Given the description of an element on the screen output the (x, y) to click on. 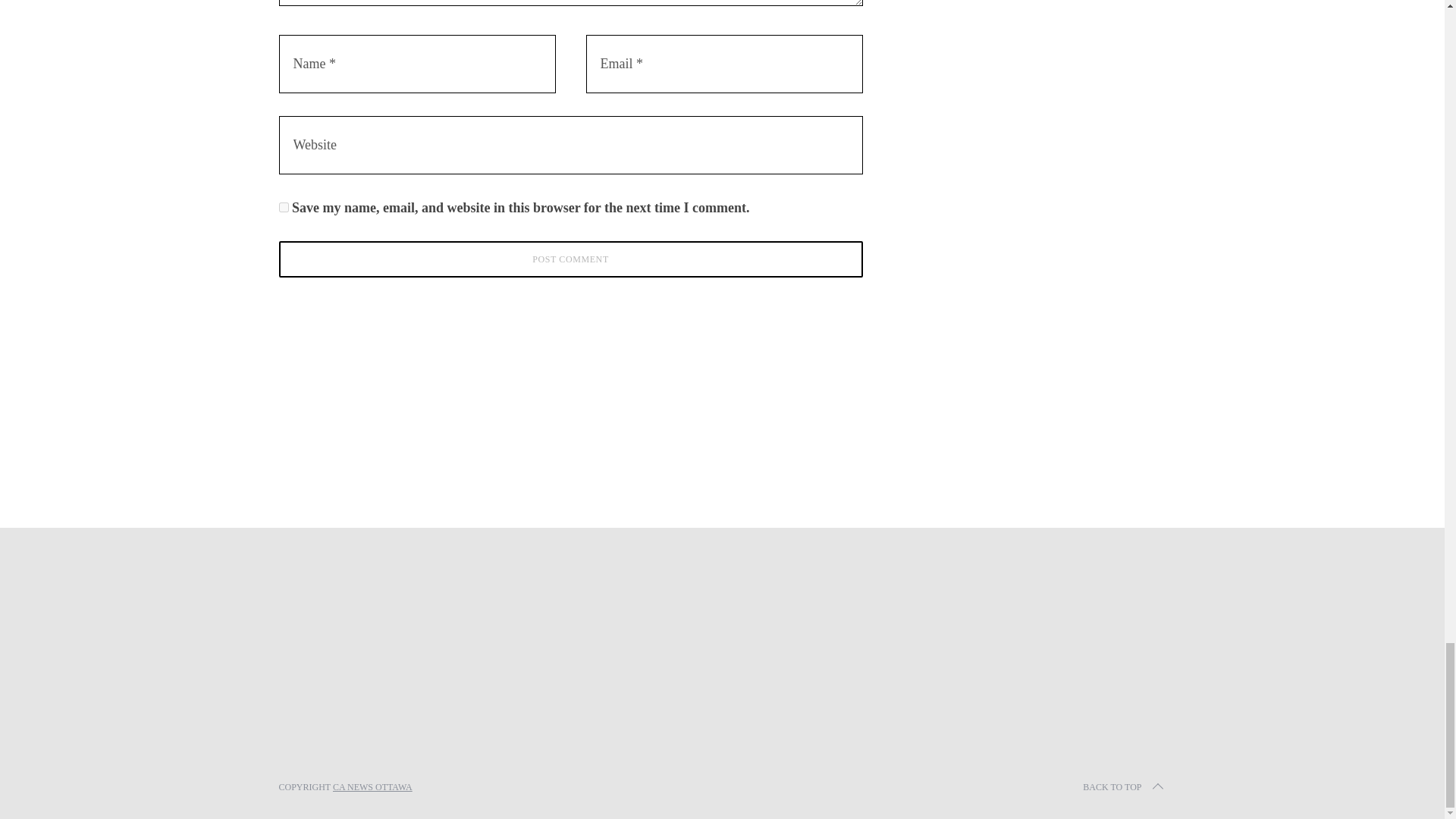
Post Comment (571, 258)
yes (283, 207)
